Given the description of an element on the screen output the (x, y) to click on. 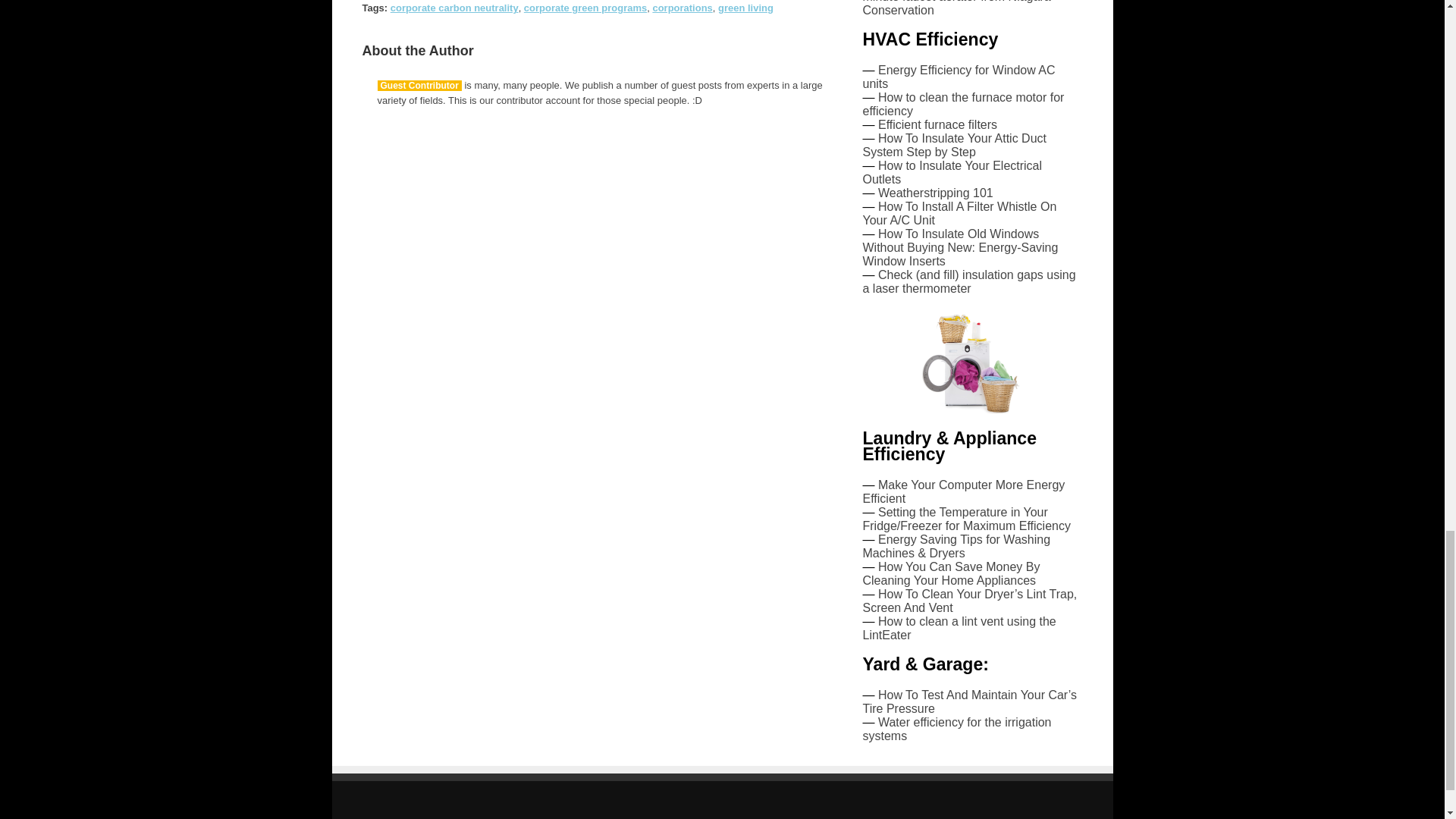
Posts by Guest Contributor (419, 85)
